Given the description of an element on the screen output the (x, y) to click on. 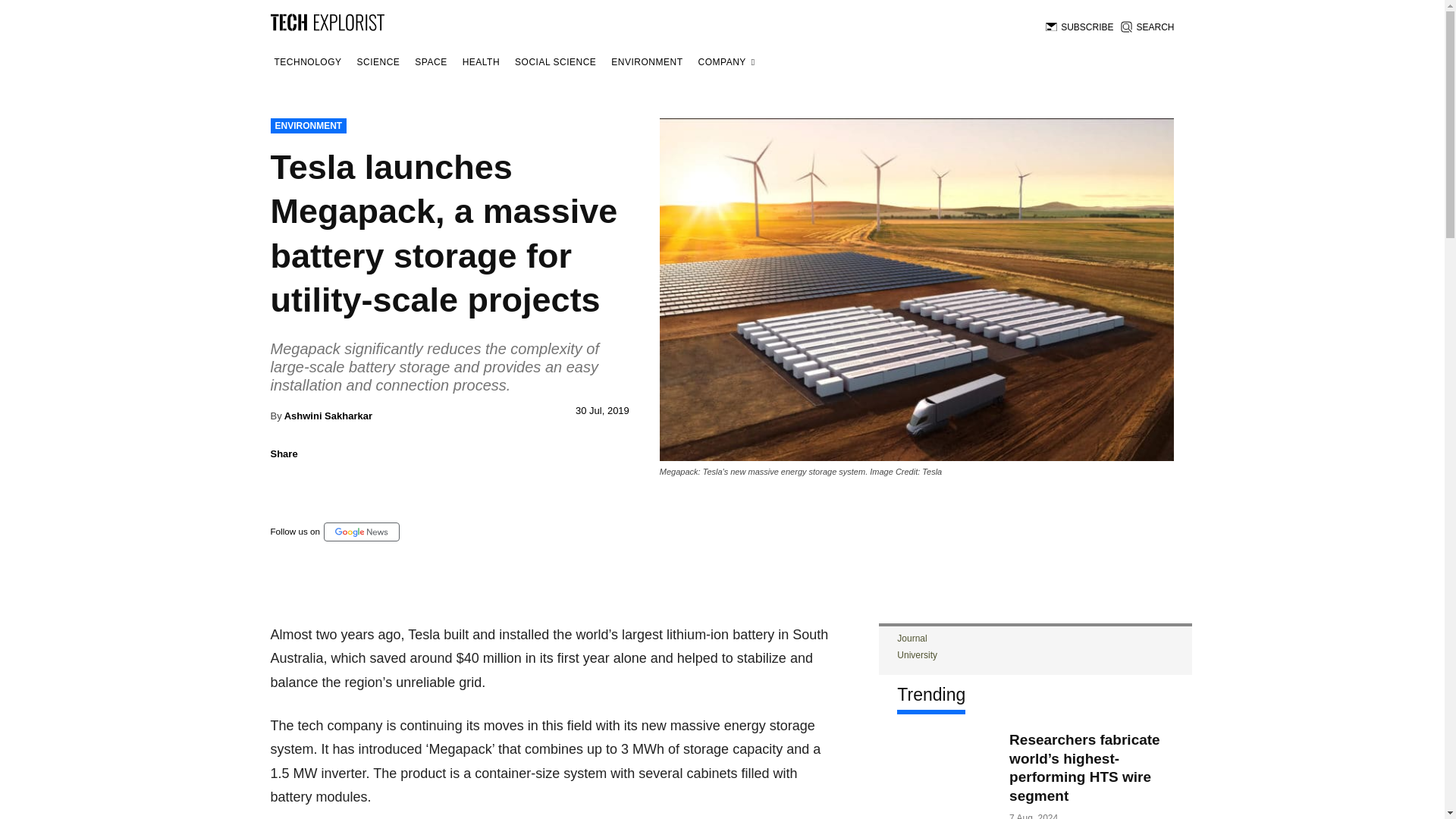
SUBSCRIBE (1079, 26)
SPACE (429, 62)
SEARCH (1147, 26)
SCIENCE (378, 62)
TECHNOLOGY (307, 62)
HEALTH (480, 62)
SUBSCRIBE (1079, 26)
ENVIRONMENT (646, 62)
Health (480, 62)
